Given the description of an element on the screen output the (x, y) to click on. 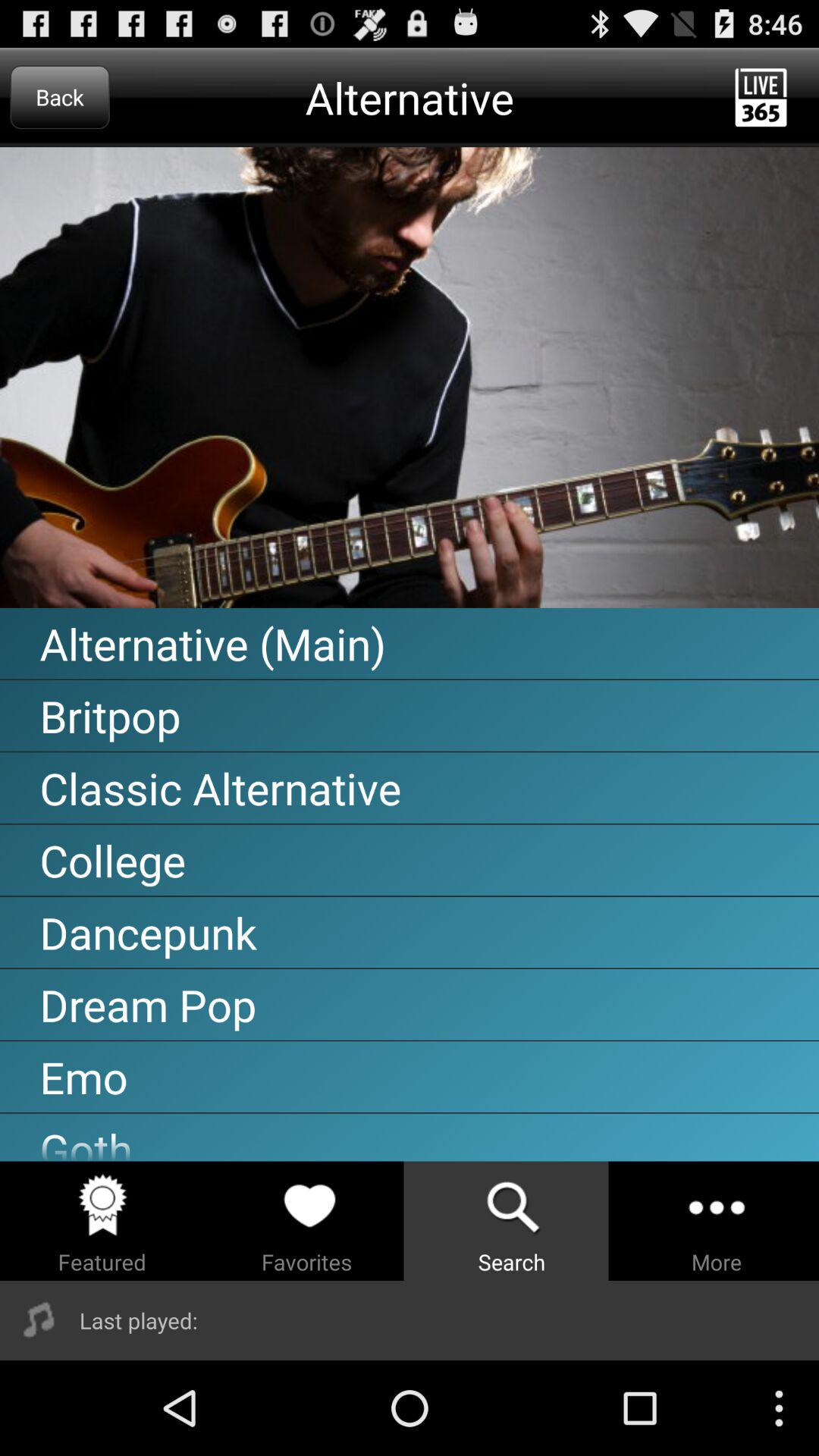
switch autoplay option (409, 377)
